Given the description of an element on the screen output the (x, y) to click on. 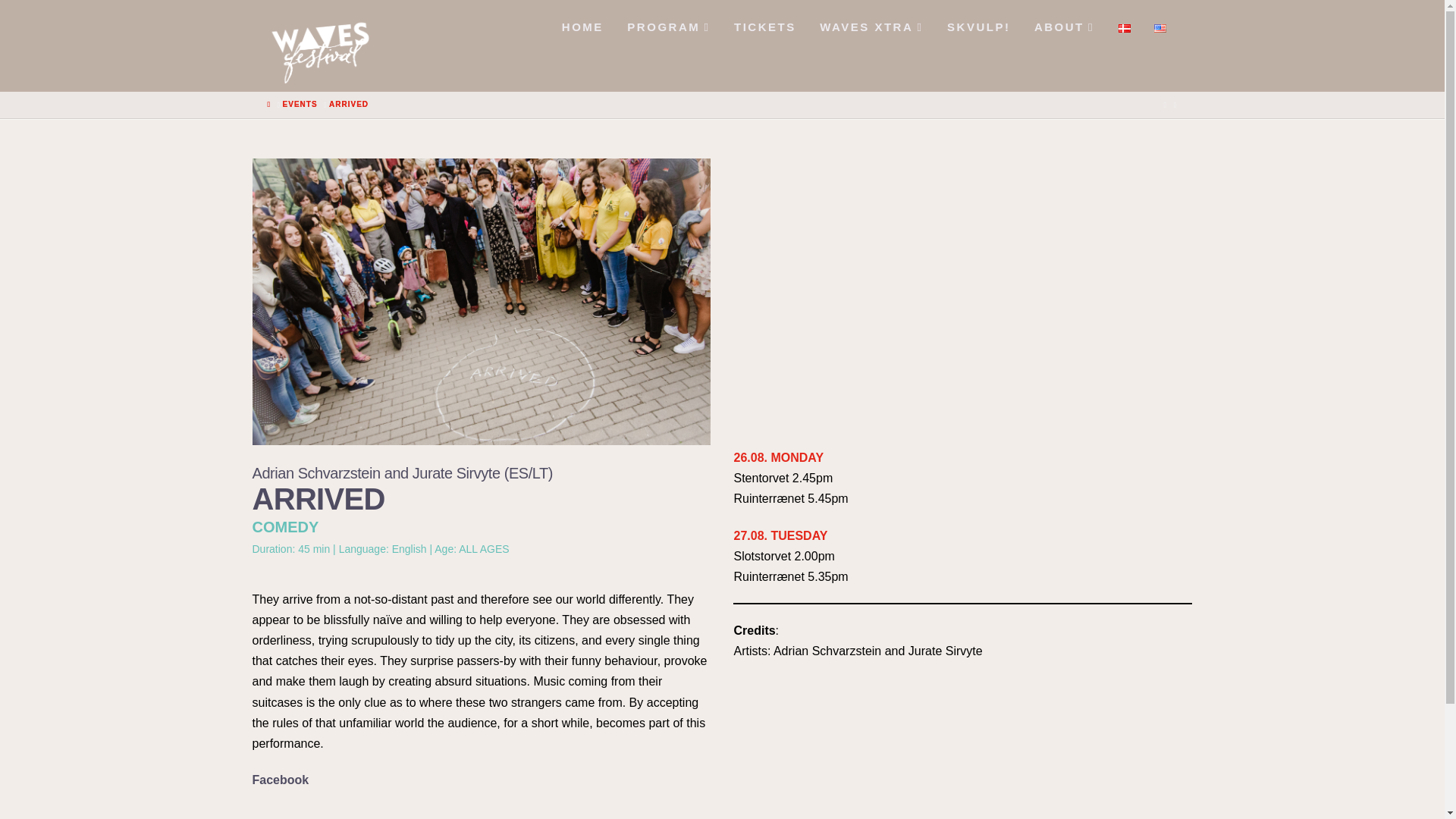
ABOUT (1063, 22)
SKVULP! (978, 22)
HOME (581, 22)
PROGRAM (667, 22)
WAVES XTRA (870, 22)
You Are Here (348, 104)
TICKETS (763, 22)
